Given the description of an element on the screen output the (x, y) to click on. 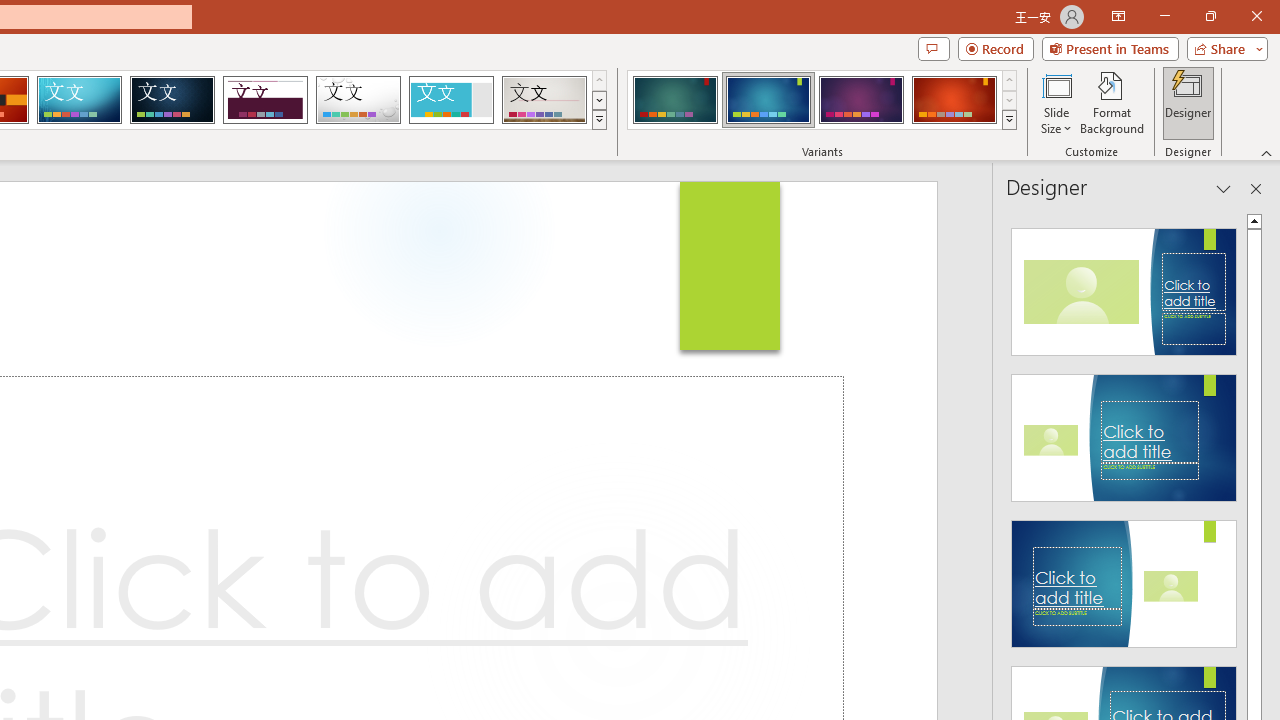
Designer (1188, 102)
Ion Variant 1 (674, 100)
Share (1223, 48)
Frame Loading Preview... (450, 100)
